Given the description of an element on the screen output the (x, y) to click on. 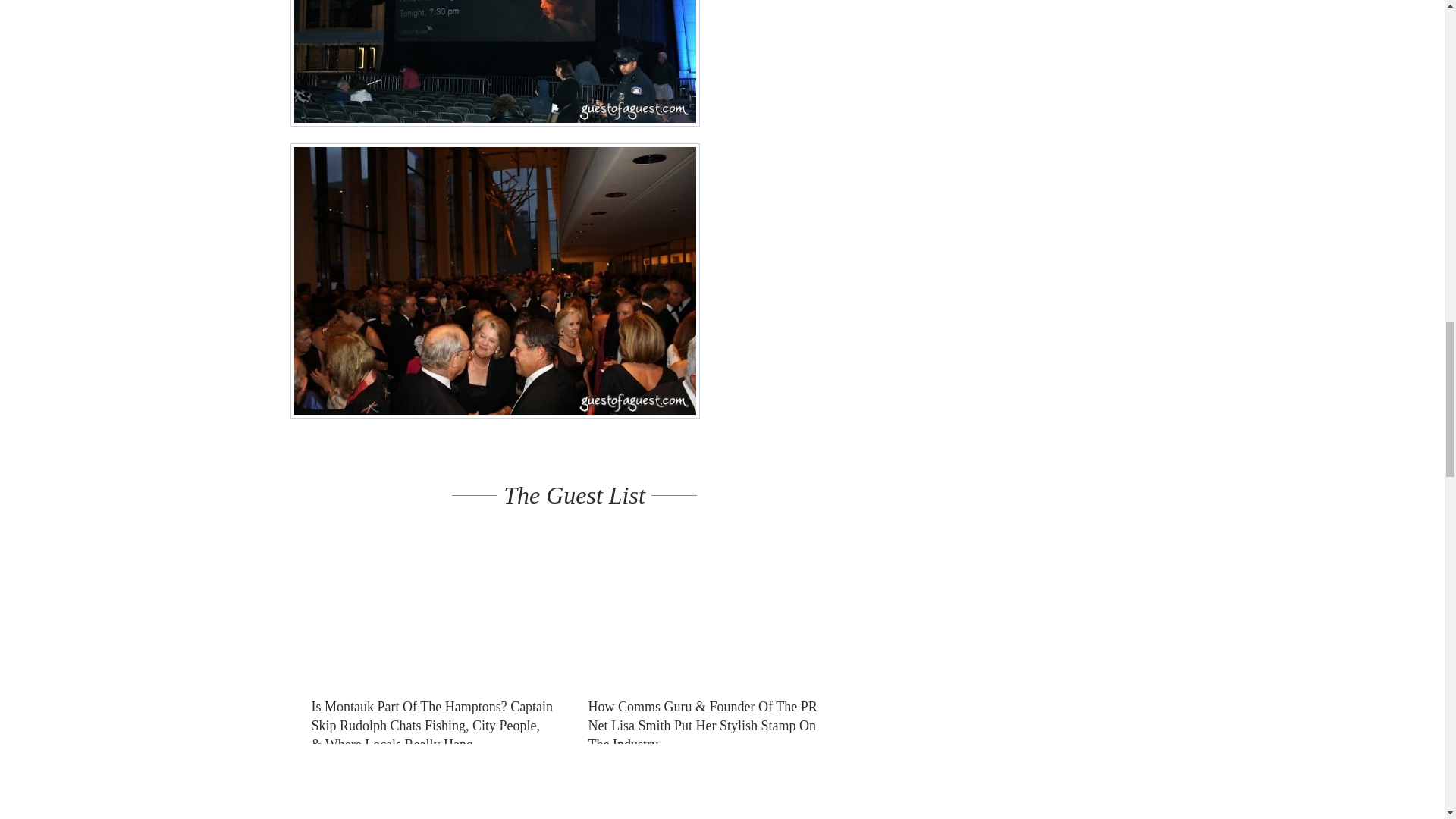
Philharmonic (493, 280)
Philharmonic (493, 63)
